Given the description of an element on the screen output the (x, y) to click on. 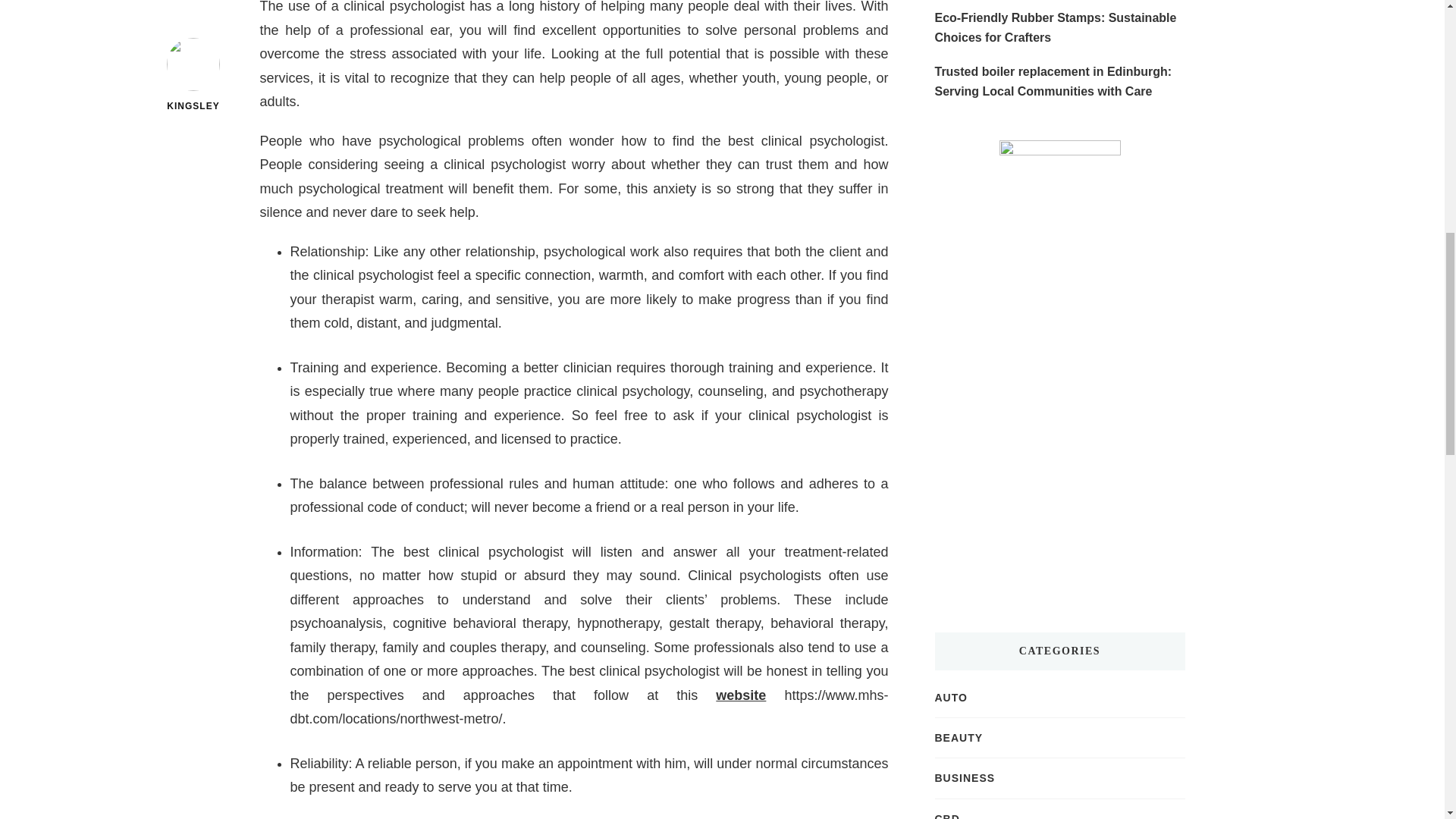
website (740, 694)
Eco-Friendly Rubber Stamps: Sustainable Choices for Crafters (1059, 27)
